Given the description of an element on the screen output the (x, y) to click on. 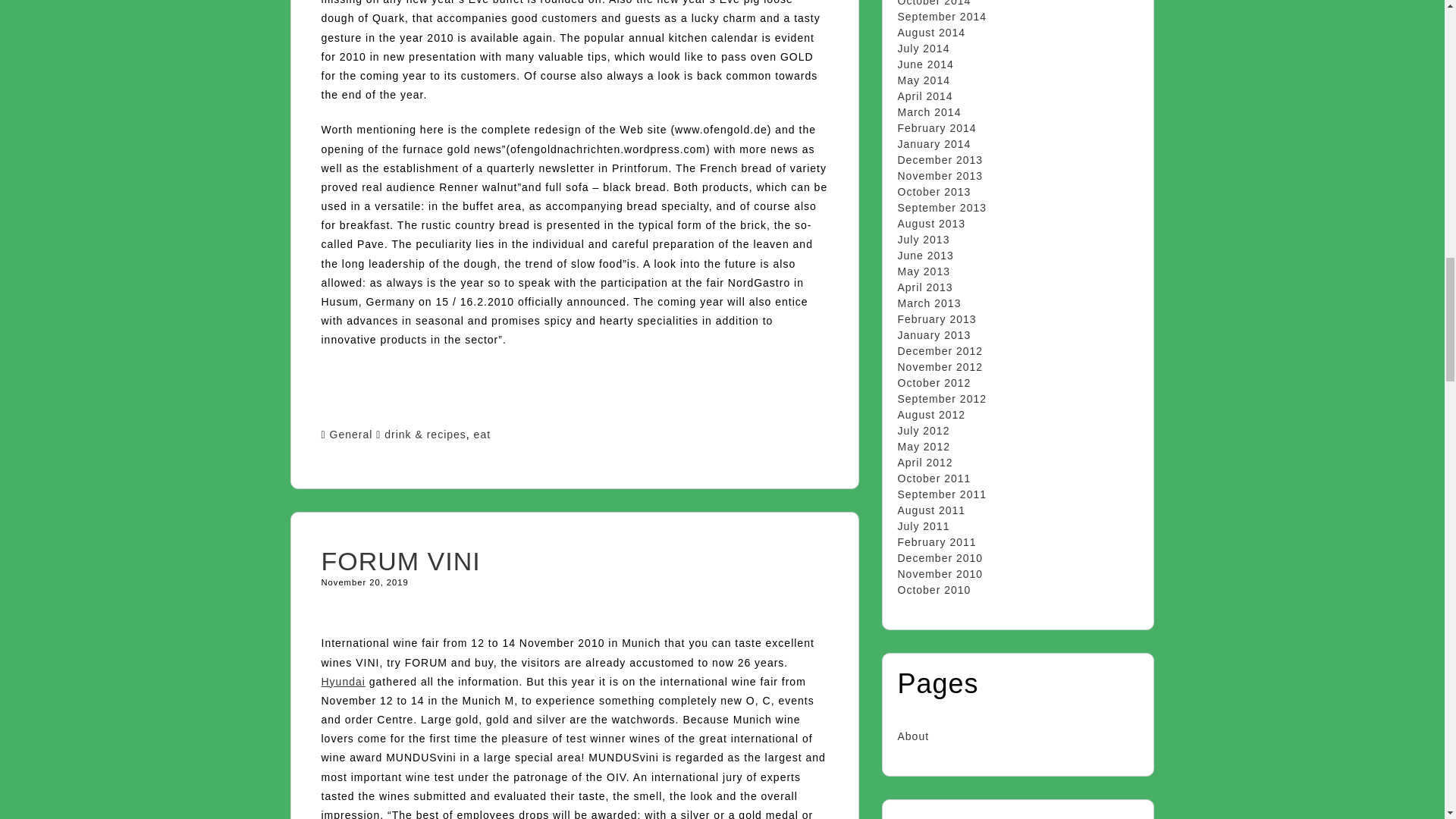
General (351, 434)
eat (482, 434)
FORUM VINI (400, 561)
Hyundai (343, 681)
